Given the description of an element on the screen output the (x, y) to click on. 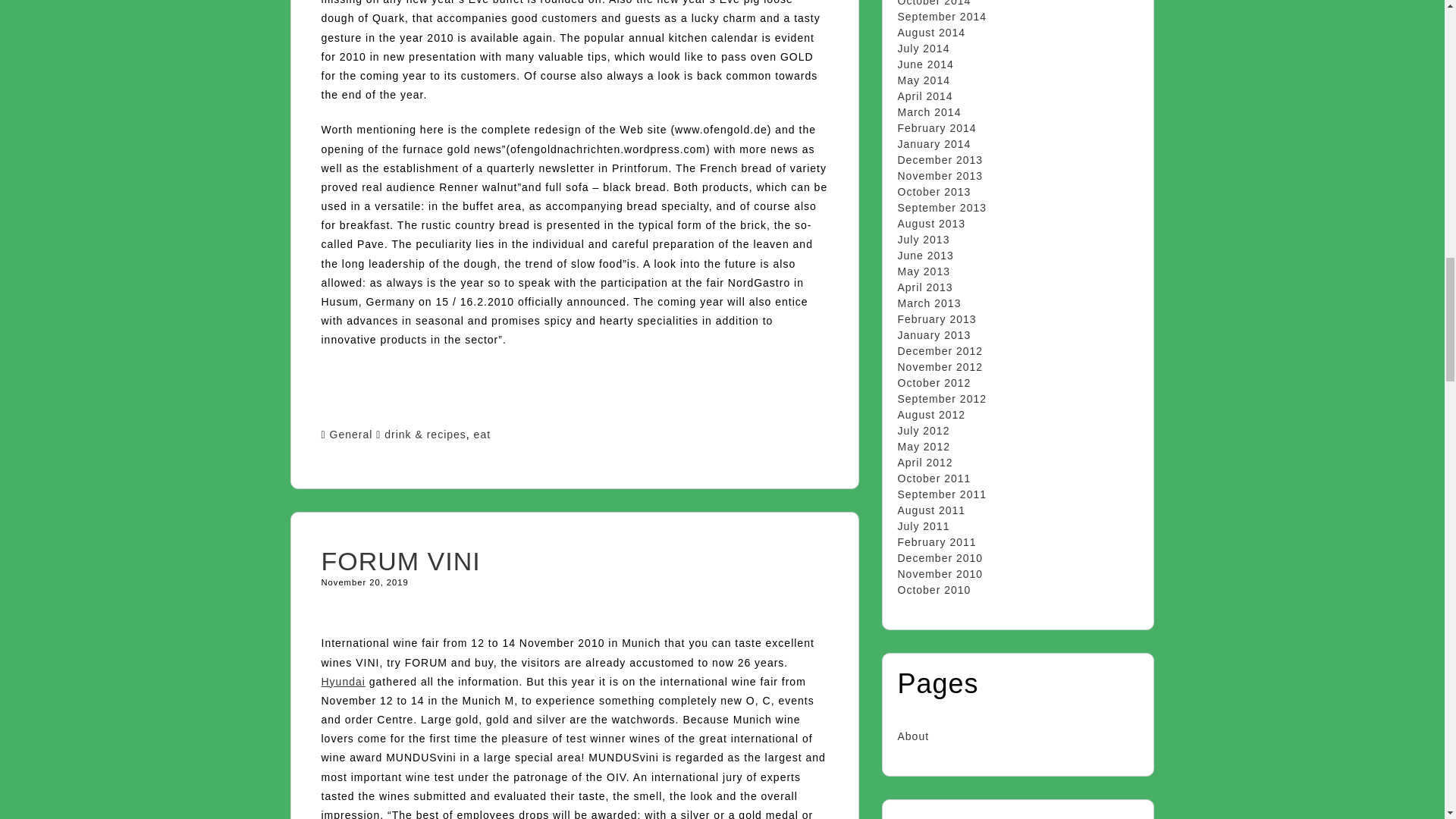
General (351, 434)
eat (482, 434)
FORUM VINI (400, 561)
Hyundai (343, 681)
